Given the description of an element on the screen output the (x, y) to click on. 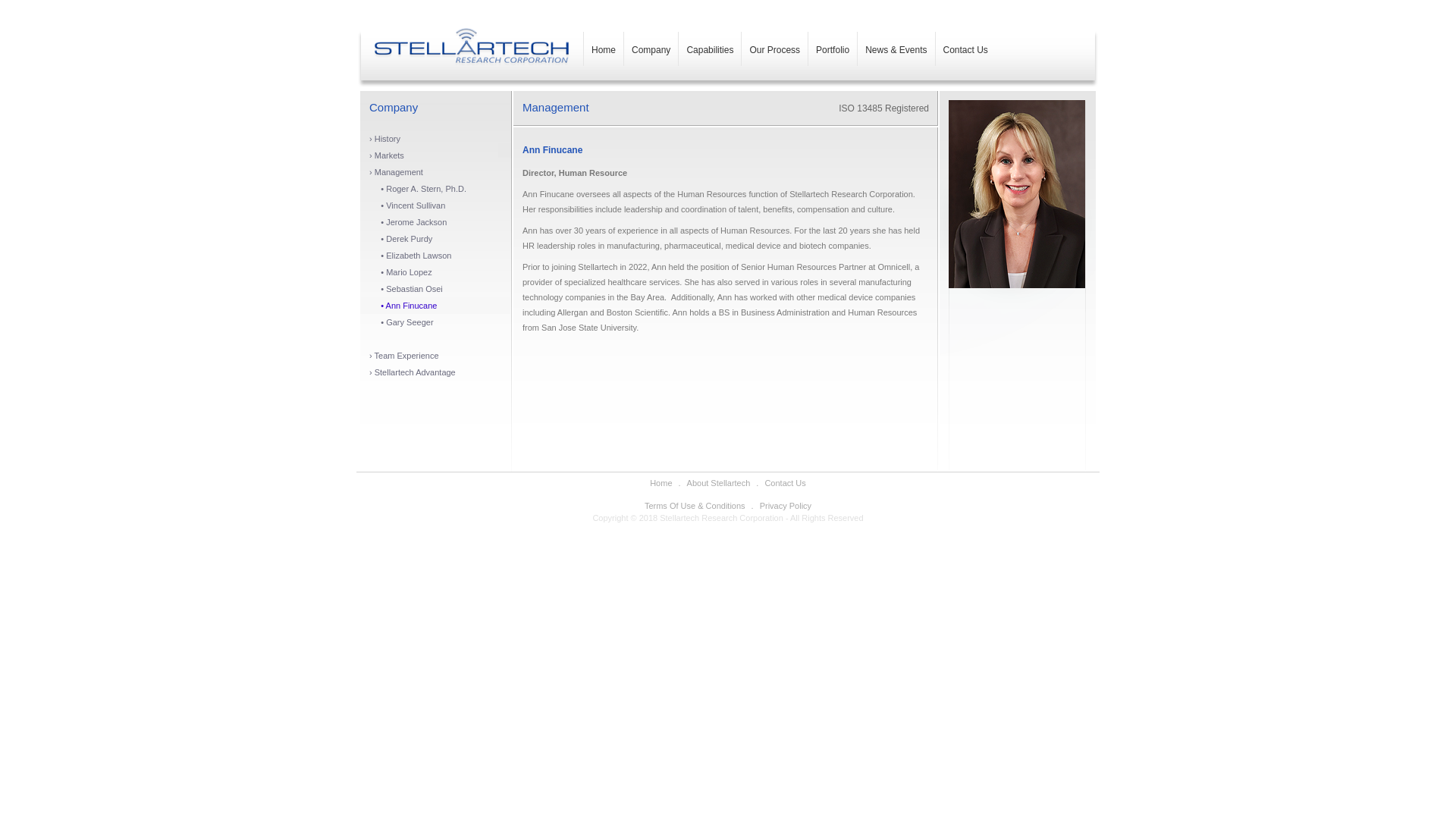
Home (660, 482)
Our Process (774, 43)
Portfolio (832, 43)
Company (651, 43)
About Stellartech (719, 482)
Capabilities (709, 43)
Home (603, 43)
Contact Us (965, 43)
